Given the description of an element on the screen output the (x, y) to click on. 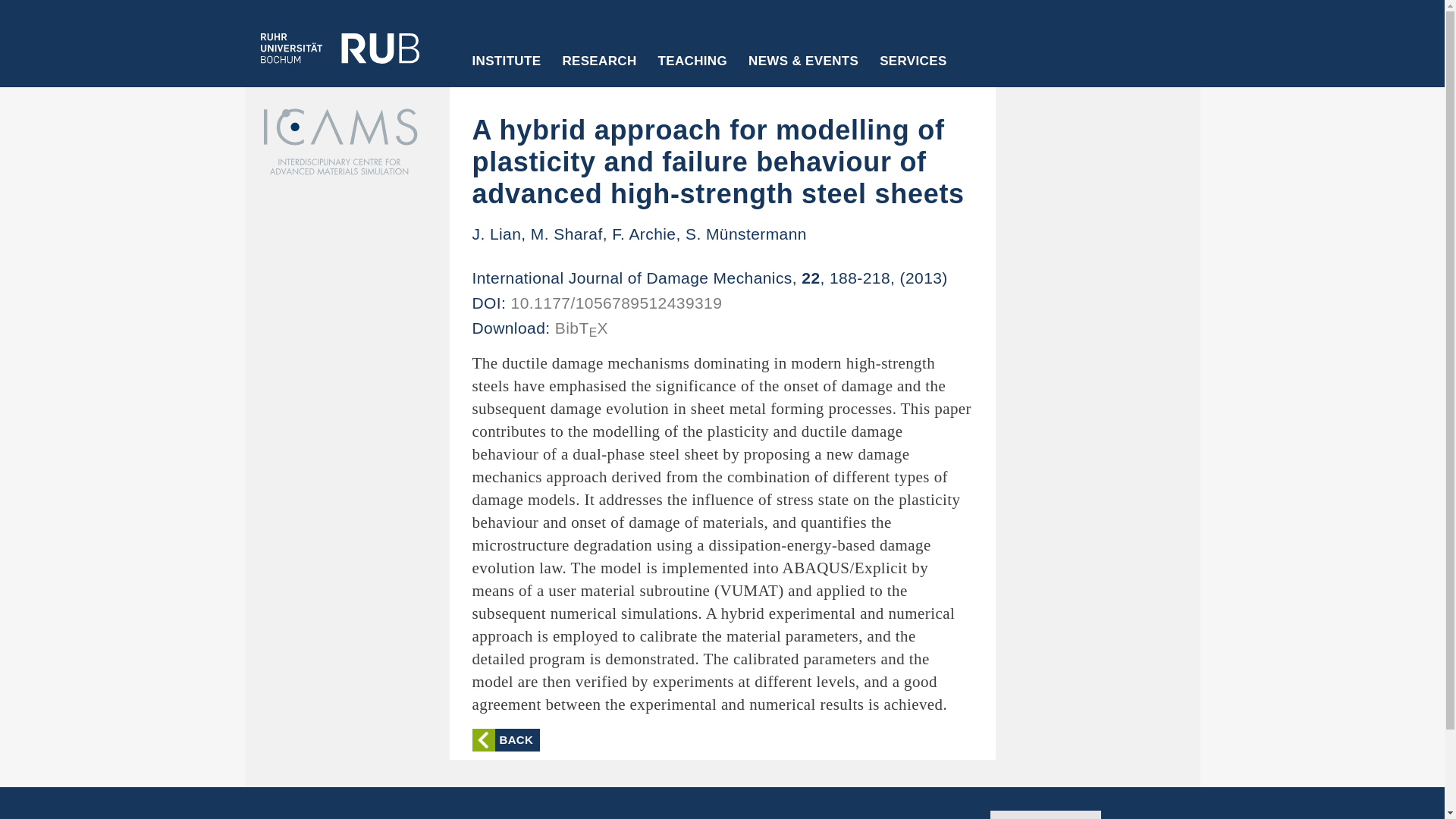
INSTITUTE (506, 70)
TEACHING (692, 70)
RESEARCH (598, 70)
